Given the description of an element on the screen output the (x, y) to click on. 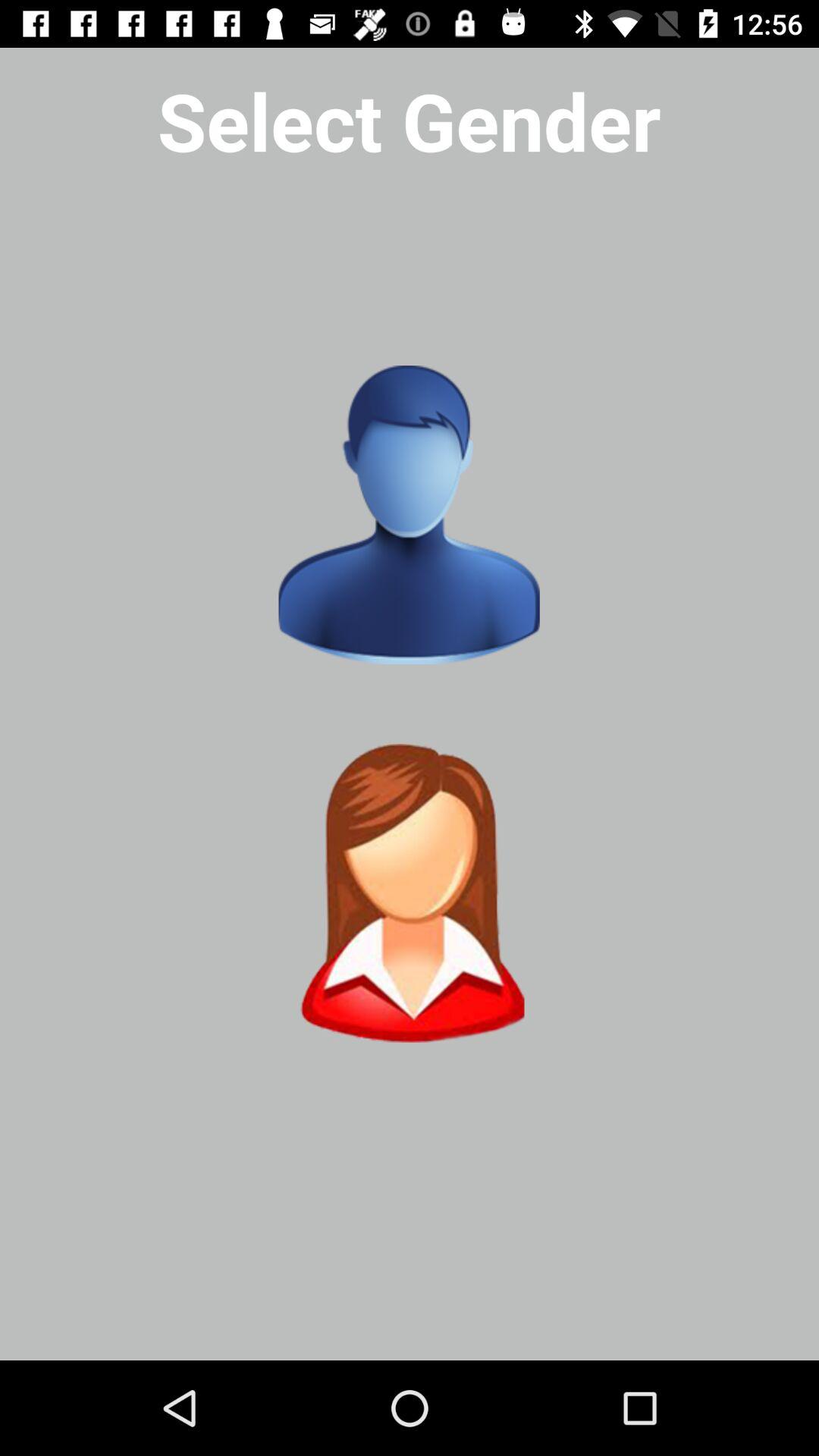
gender male (408, 514)
